Given the description of an element on the screen output the (x, y) to click on. 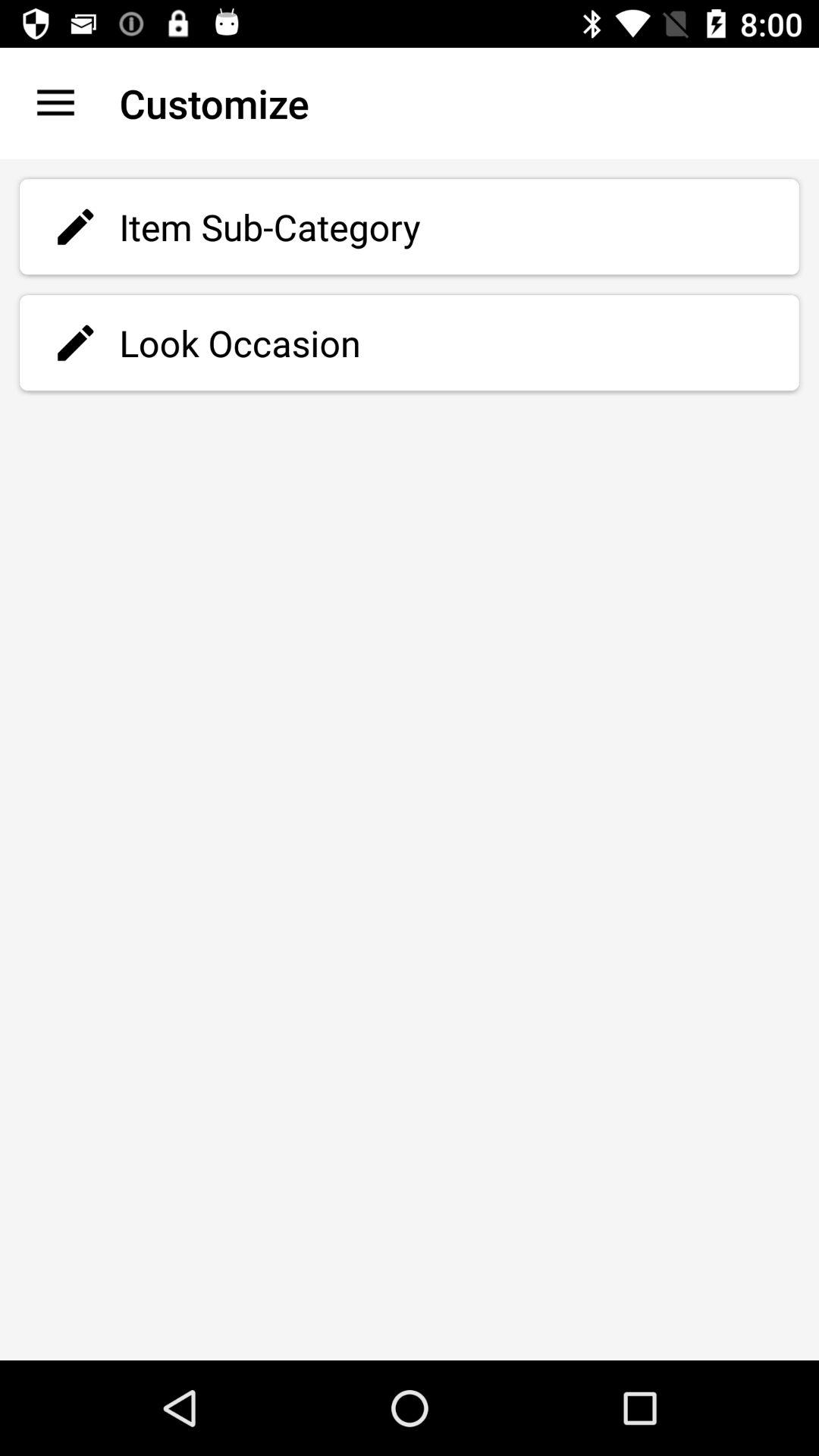
choose look occasion icon (409, 342)
